Given the description of an element on the screen output the (x, y) to click on. 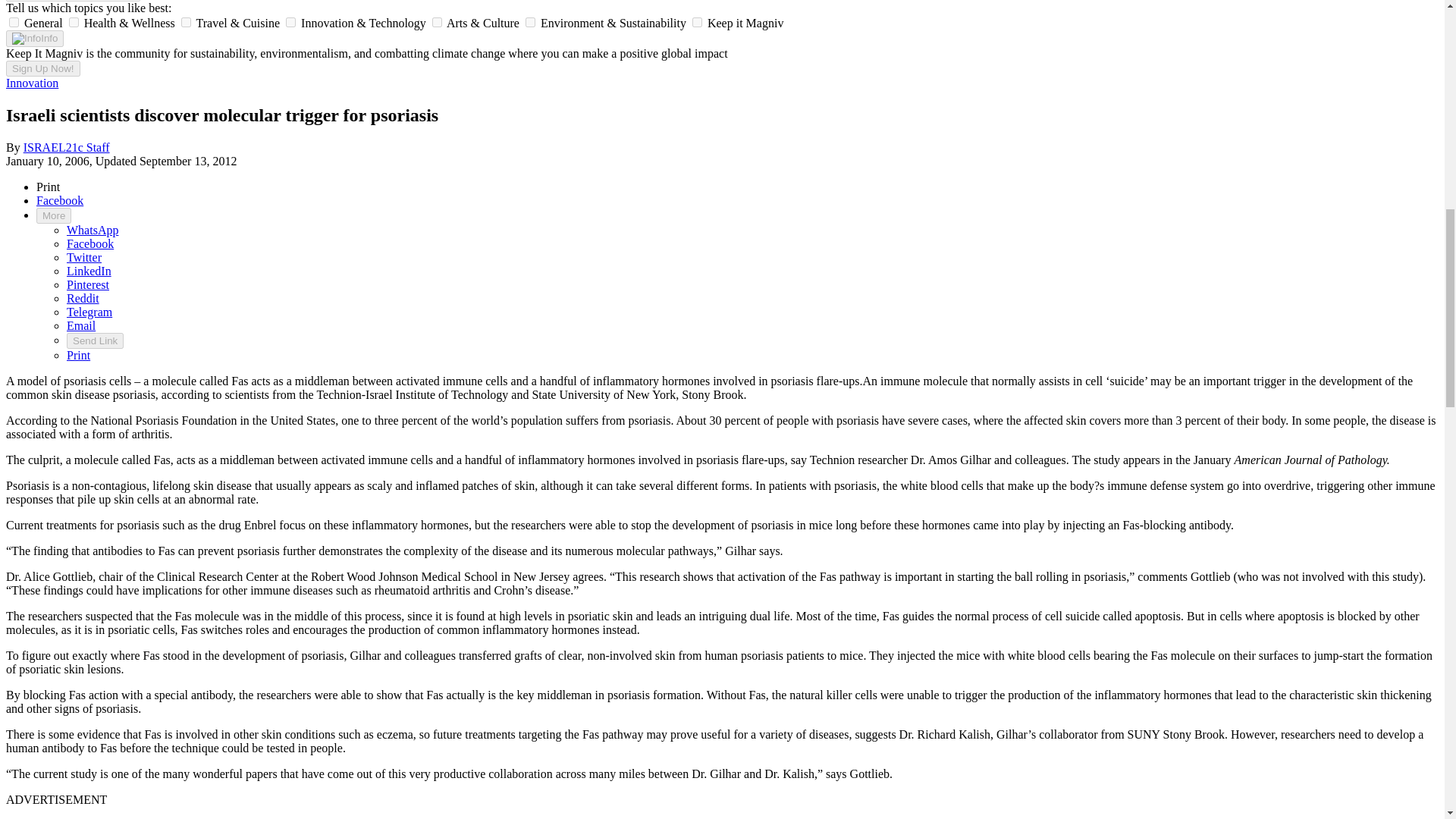
ISRAEL21c Staff (66, 146)
5 (530, 22)
1 (73, 22)
4 (437, 22)
0 (13, 22)
6 (697, 22)
3 (290, 22)
2 (185, 22)
Info (34, 38)
